Given the description of an element on the screen output the (x, y) to click on. 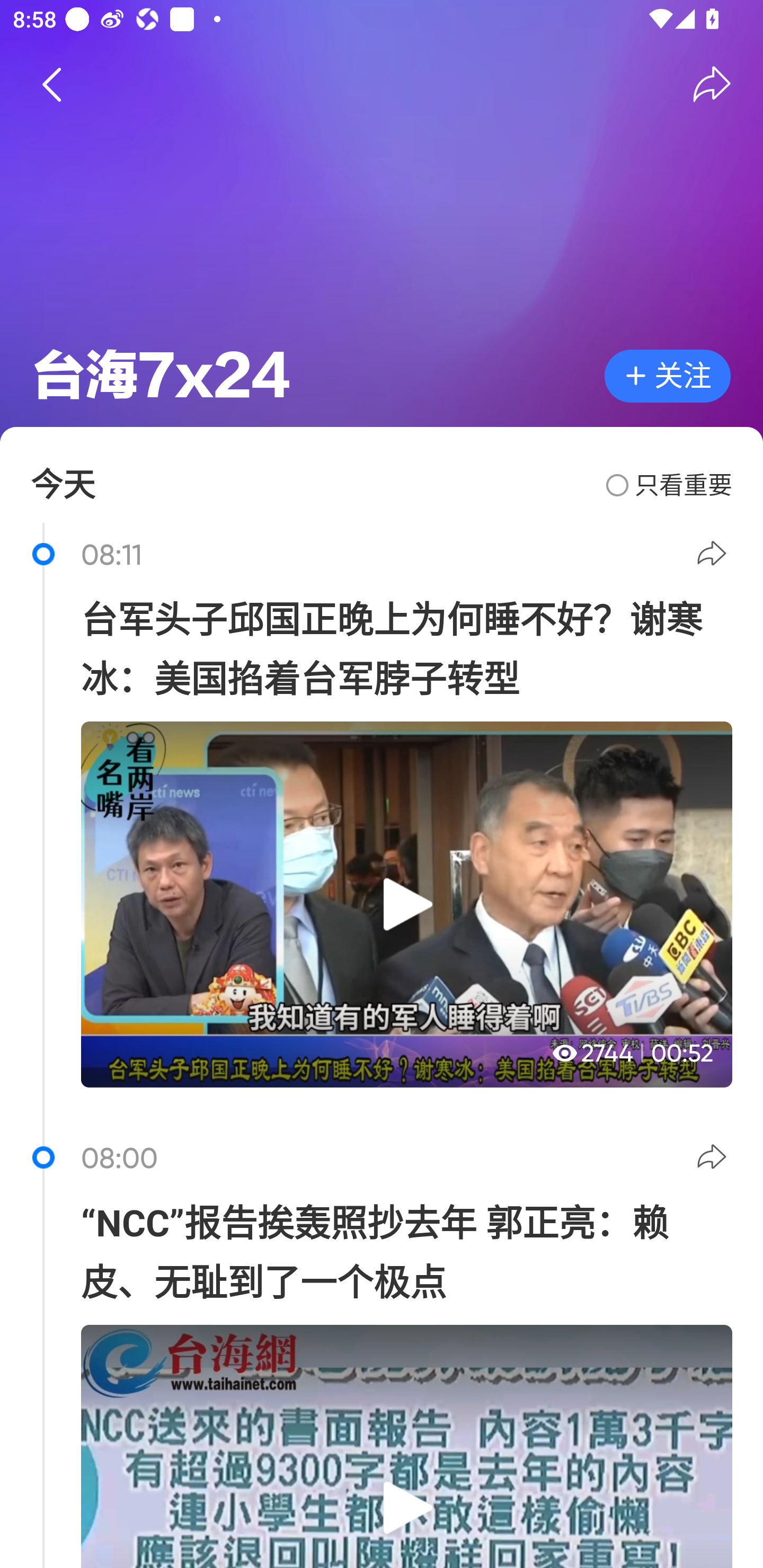
 (50, 83)
 (711, 83)
 关注 (667, 375)
只看重要 (668, 485)
 (713, 556)
节点 08:00  “NCC”报告挨轰照抄去年 郭正亮：赖皮、无耻到了一个极点 (381, 1346)
 (713, 1160)
